Given the description of an element on the screen output the (x, y) to click on. 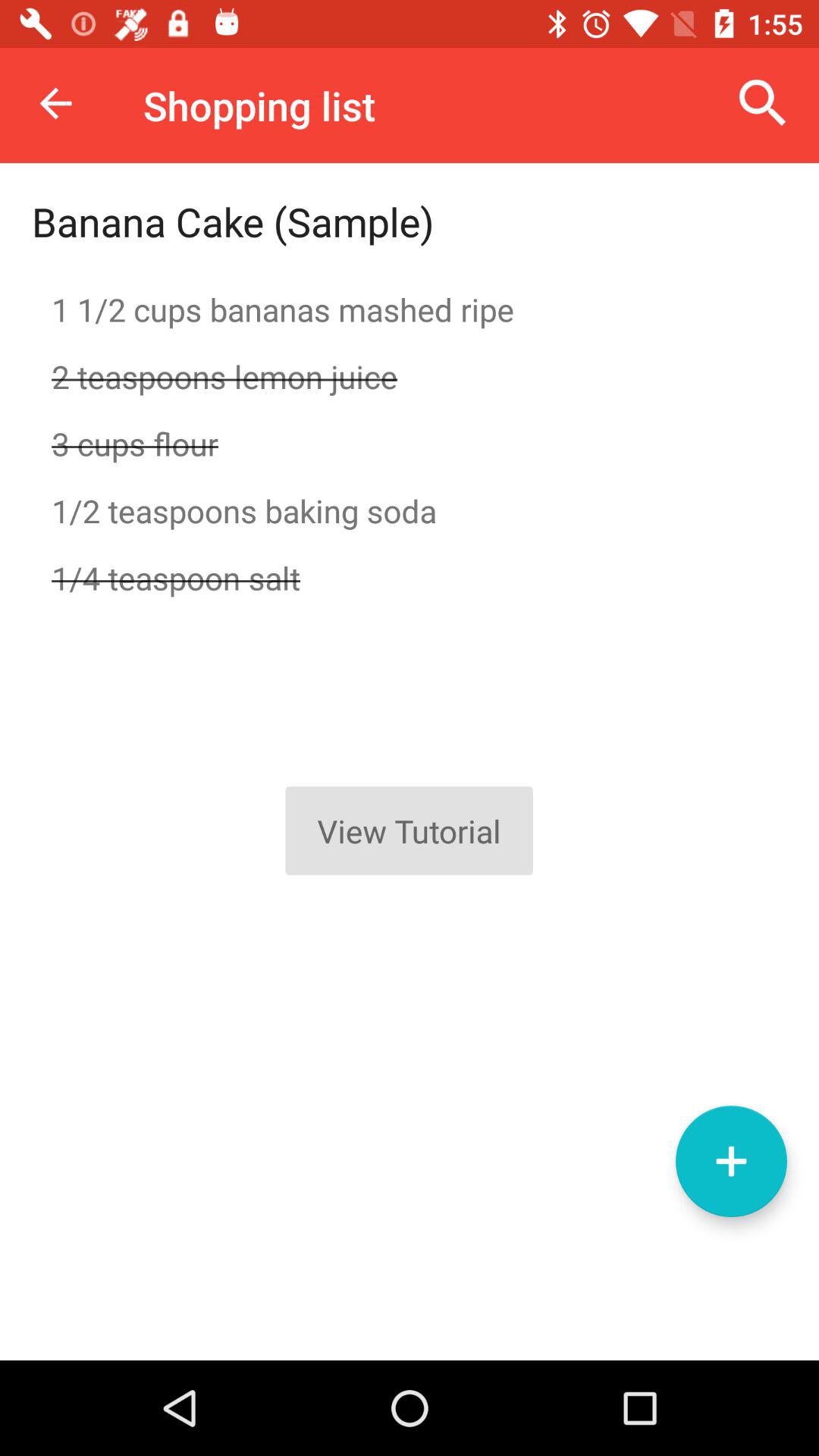
turn on item above 1 2 teaspoons (409, 443)
